Given the description of an element on the screen output the (x, y) to click on. 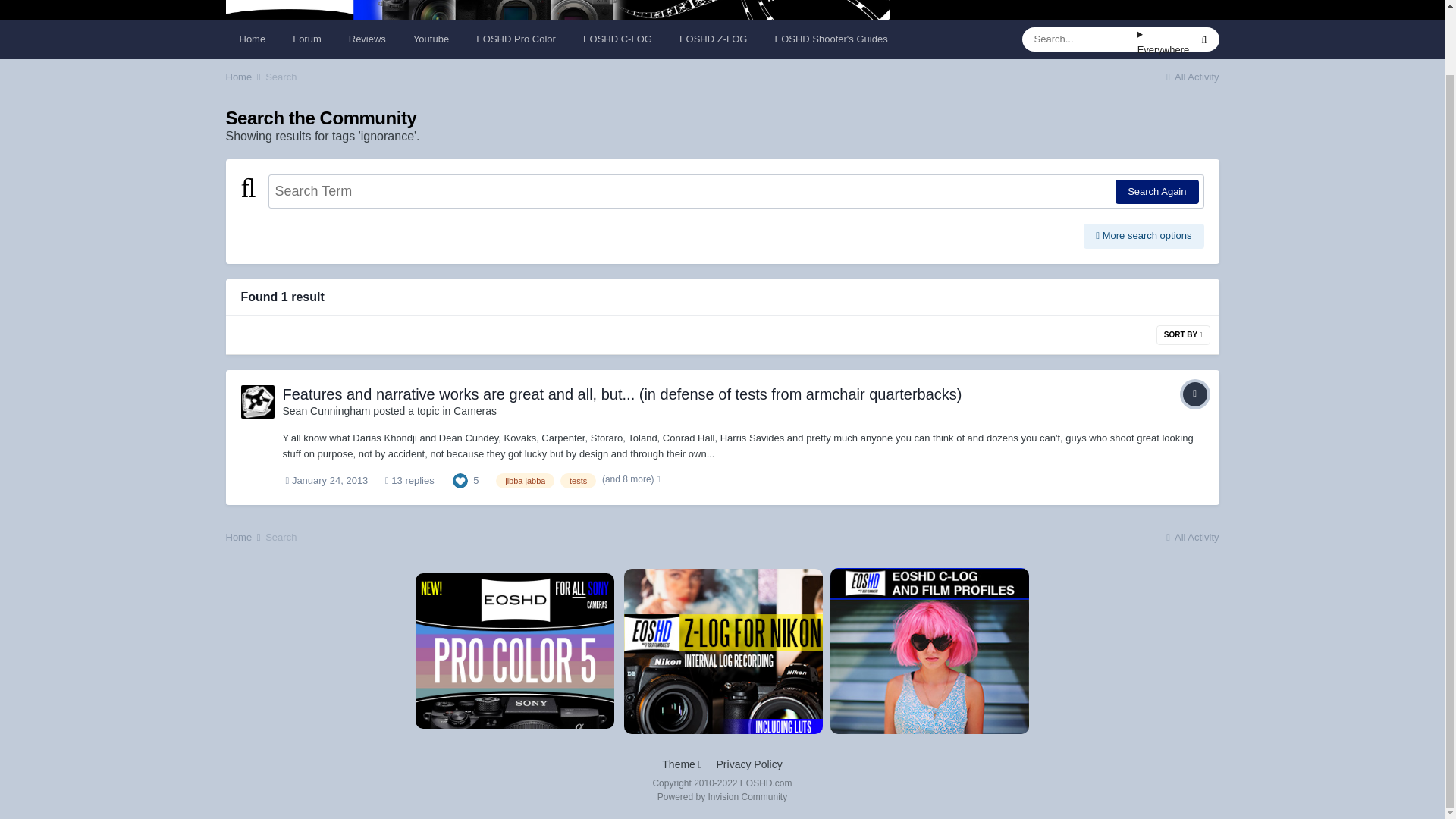
Home (244, 76)
Go to Sean Cunningham's profile (258, 401)
Search Again (1156, 191)
More search options (1143, 235)
See who reacted "Like" (459, 479)
EOSHD Shooter's Guides (830, 38)
Find other content tagged with 'tests' (577, 480)
Find other content tagged with 'jibba jabba' (525, 480)
Reviews (366, 38)
Youtube (430, 38)
